Given the description of an element on the screen output the (x, y) to click on. 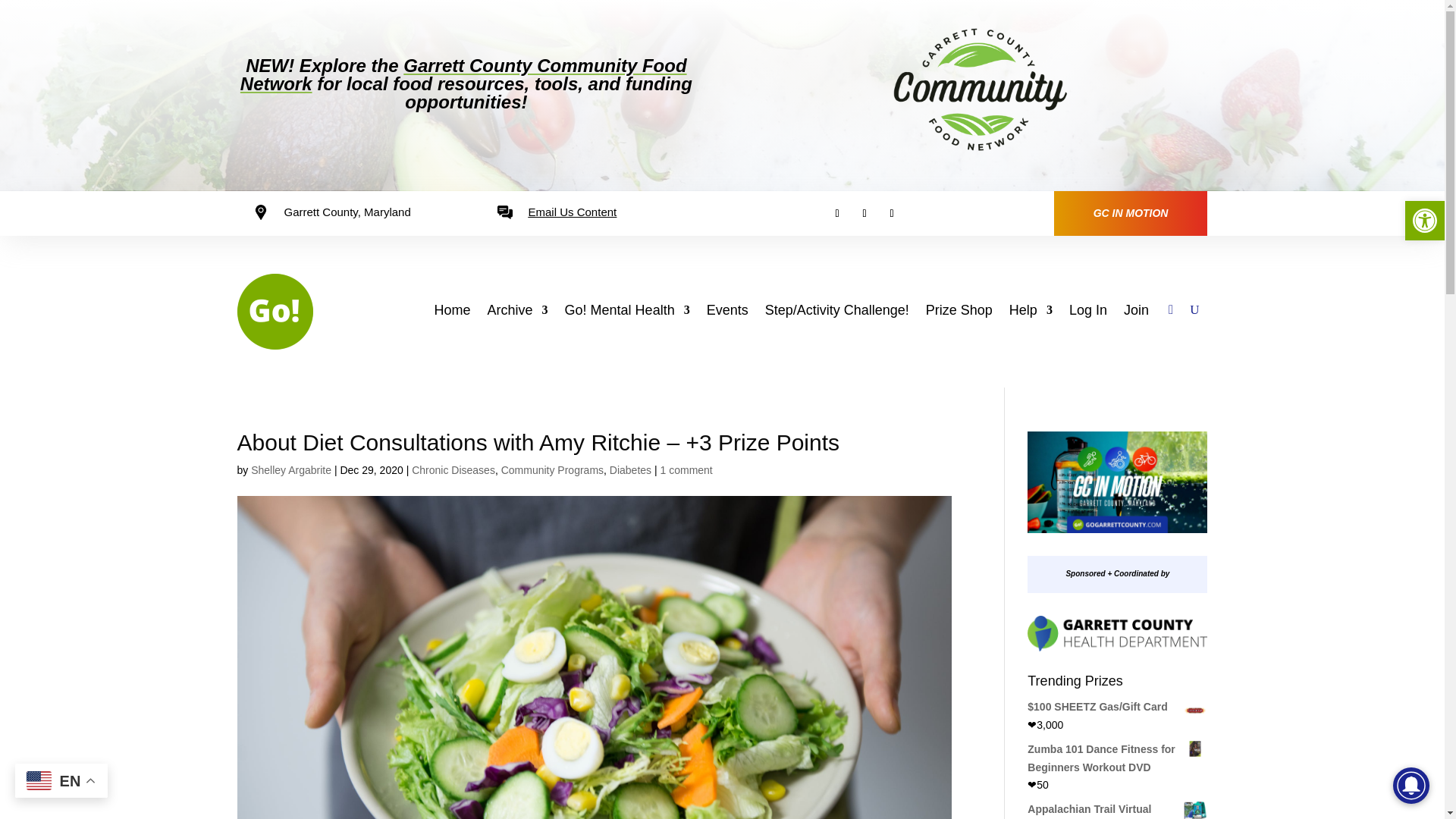
Email Us Content (572, 211)
Accessibility Tools (1424, 220)
Follow on X (864, 213)
Archive (517, 312)
Follow on Facebook (837, 213)
Garrett County Community Food Network (463, 74)
Garrett-County-Food-Network-Logo (978, 89)
cropped-go (274, 311)
Follow on Instagram (891, 213)
Home (451, 312)
Posts by Shelley Argabrite (290, 469)
GC IN MOTION (1131, 213)
